Given the description of an element on the screen output the (x, y) to click on. 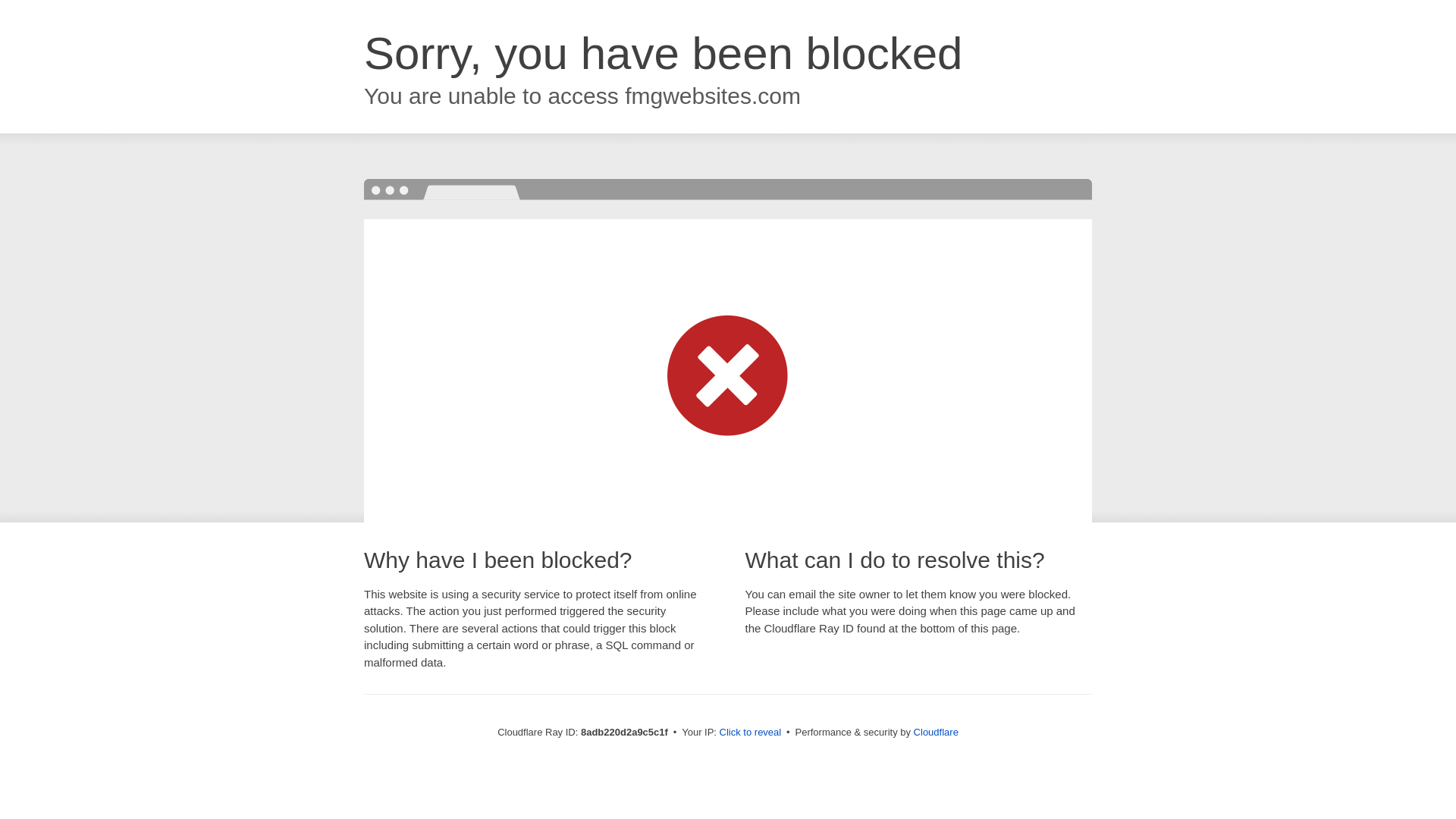
Cloudflare (936, 731)
Click to reveal (750, 732)
